Given the description of an element on the screen output the (x, y) to click on. 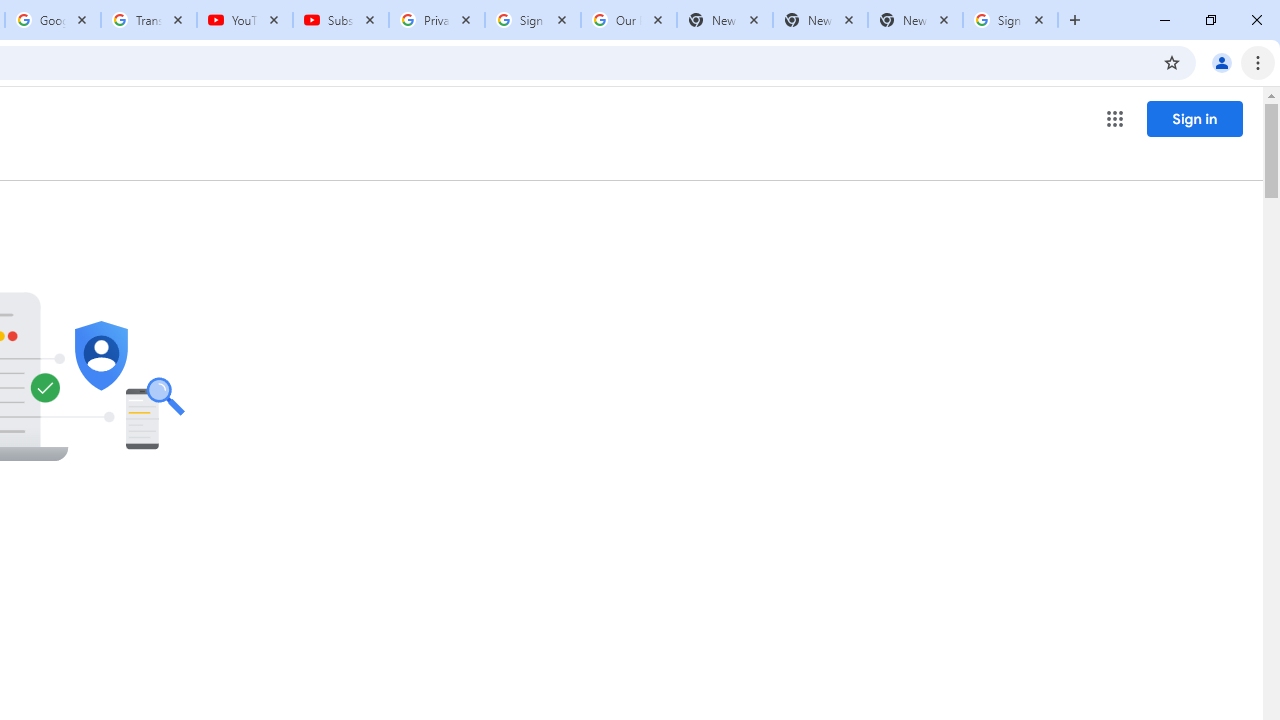
You (1221, 62)
Sign in - Google Accounts (1010, 20)
